Given the description of an element on the screen output the (x, y) to click on. 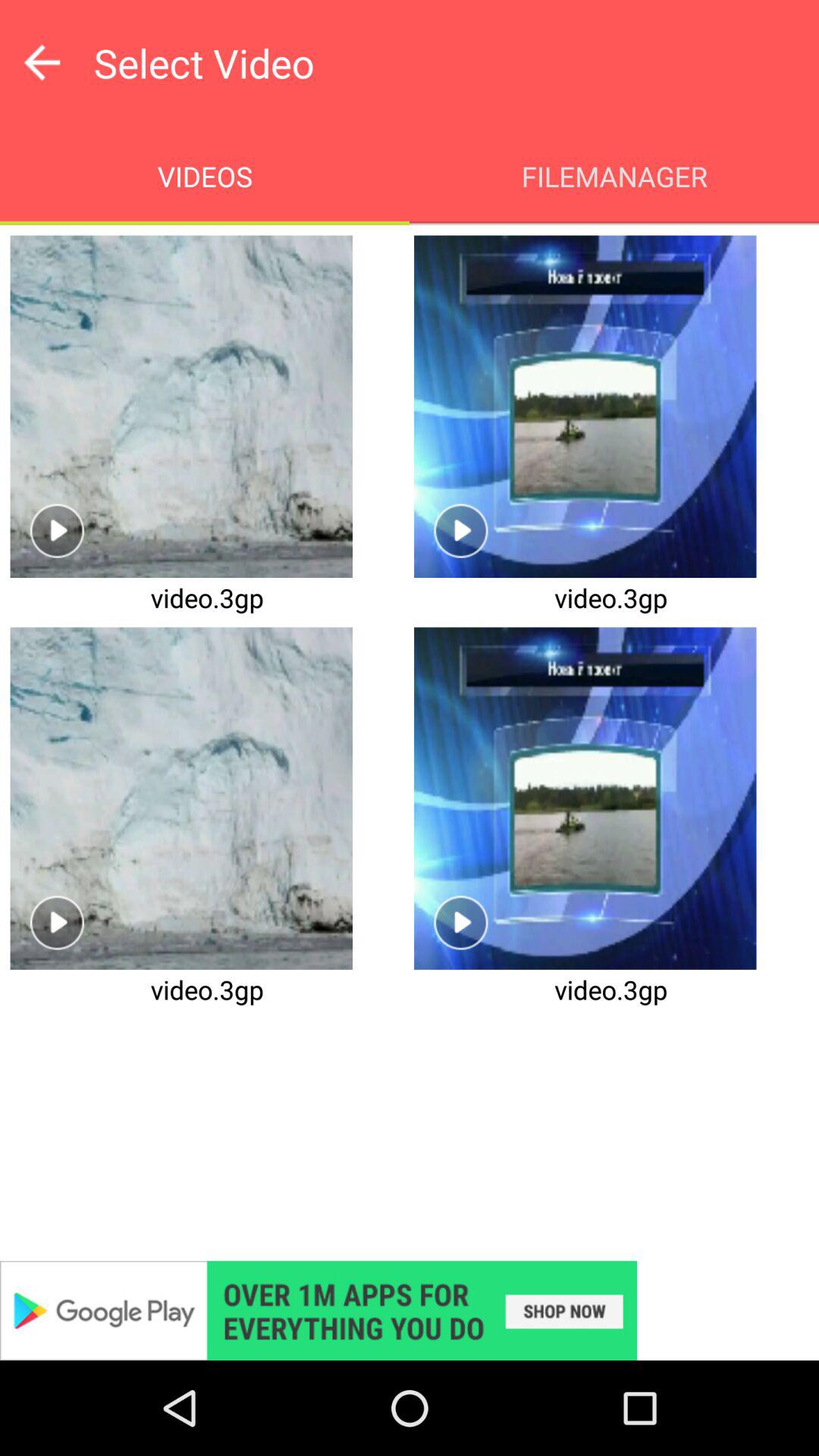
go back (41, 62)
